Given the description of an element on the screen output the (x, y) to click on. 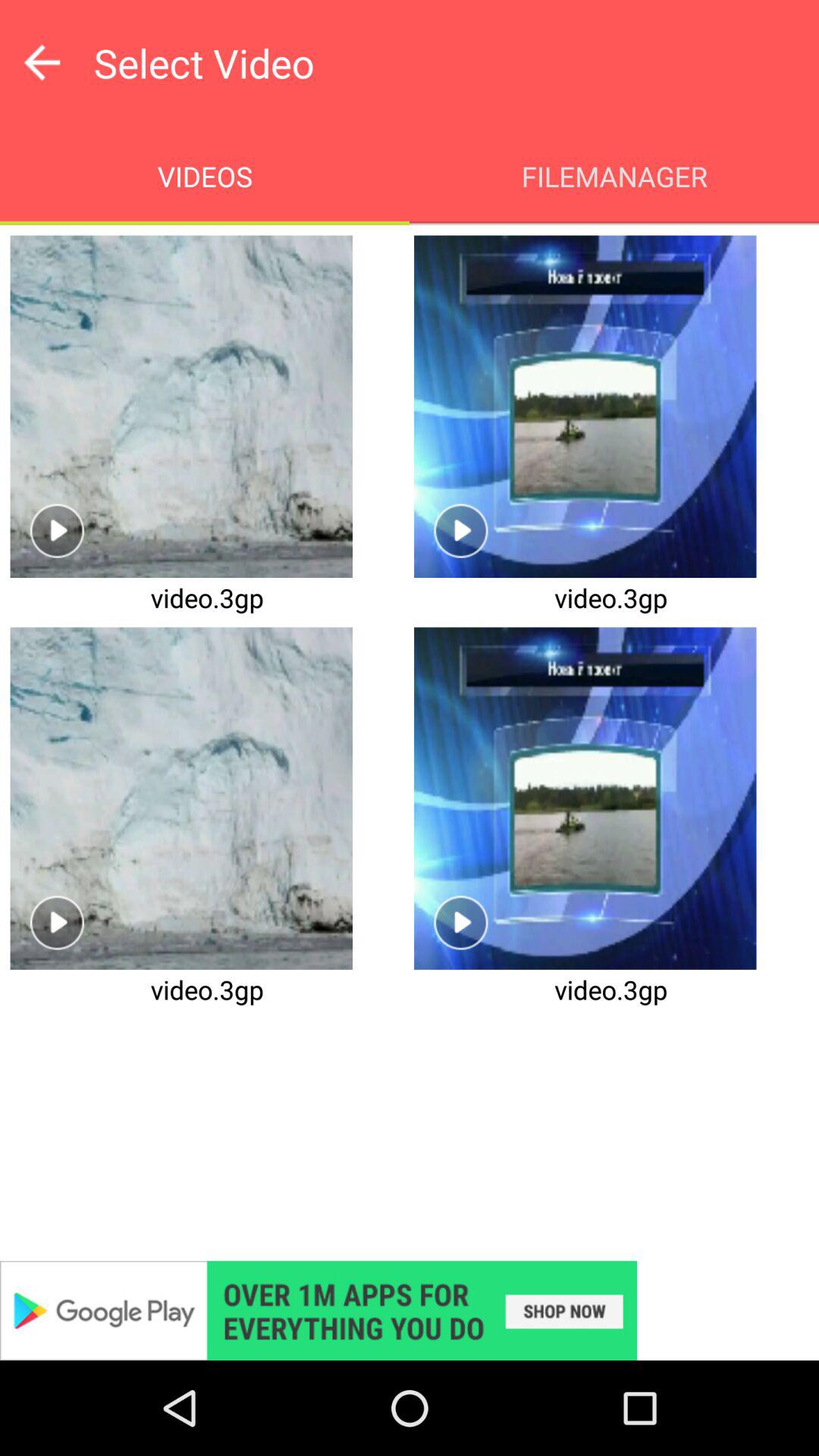
go back (41, 62)
